Given the description of an element on the screen output the (x, y) to click on. 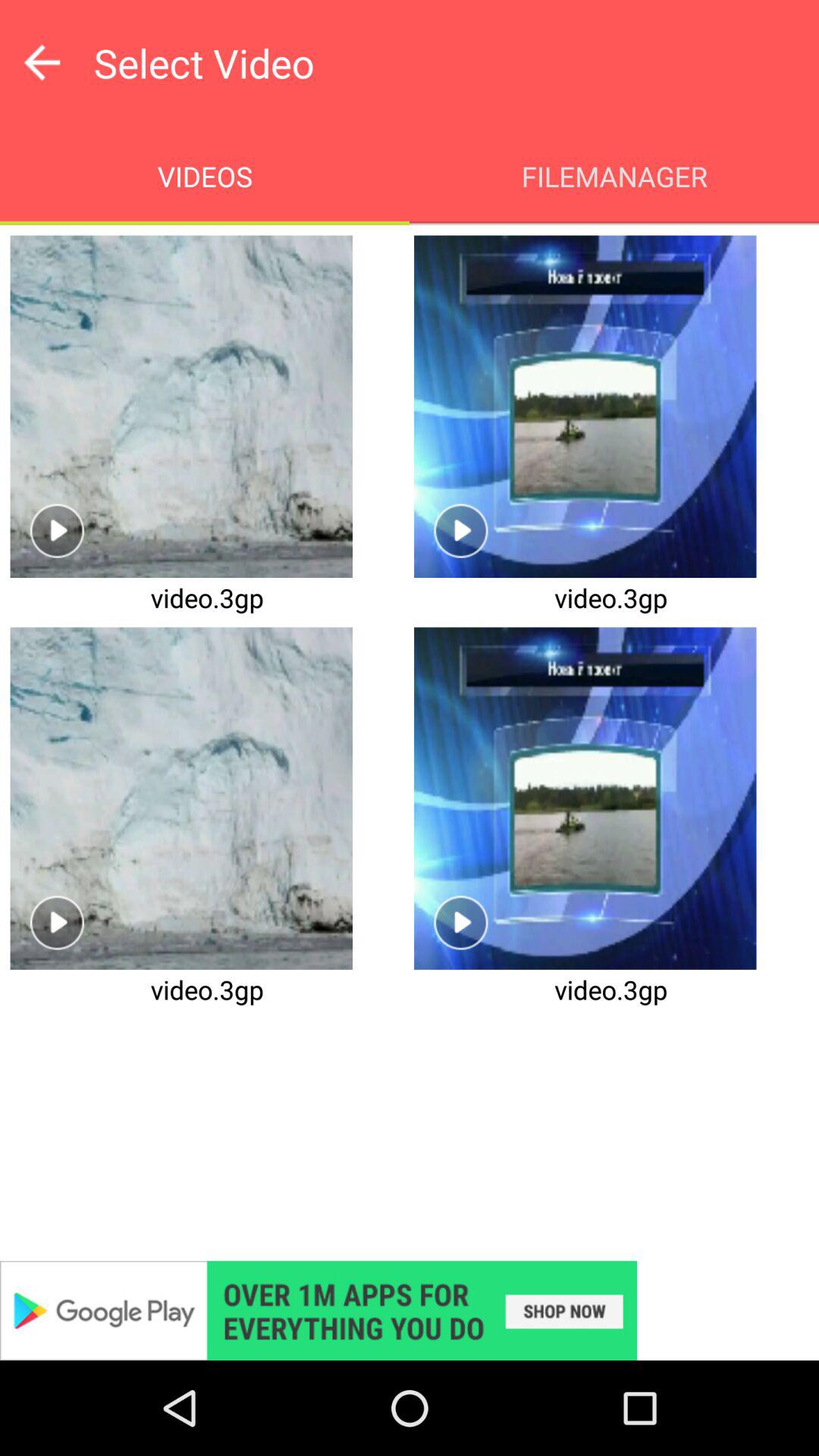
go back (41, 62)
